Given the description of an element on the screen output the (x, y) to click on. 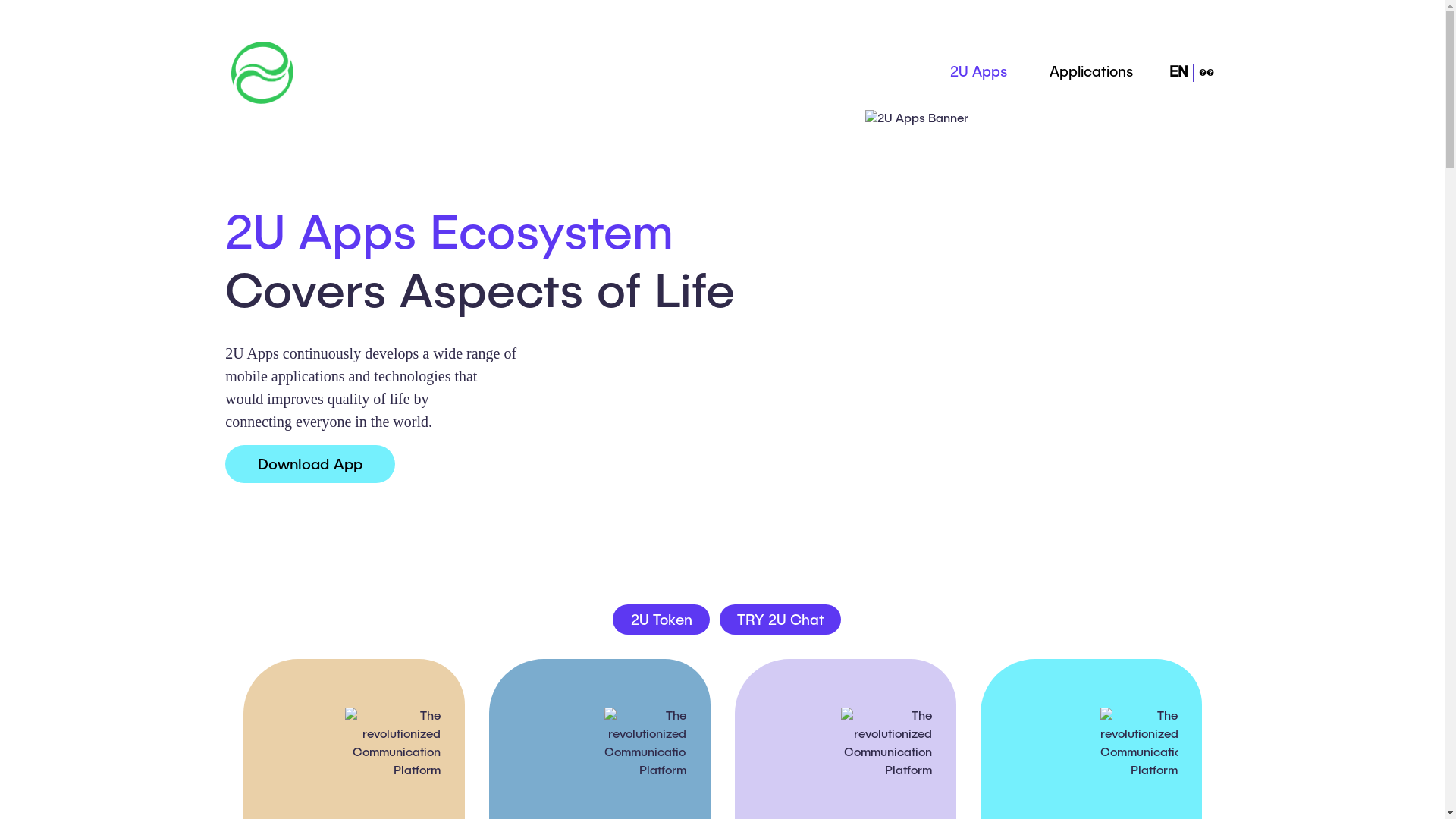
2U Apps Logo Element type: hover (261, 72)
Download App Element type: text (310, 464)
2U Apps Element type: text (978, 73)
Applications Element type: text (1091, 73)
TRY 2U Chat Element type: text (779, 619)
2U Token Element type: text (660, 619)
EN Element type: text (1178, 73)
